Given the description of an element on the screen output the (x, y) to click on. 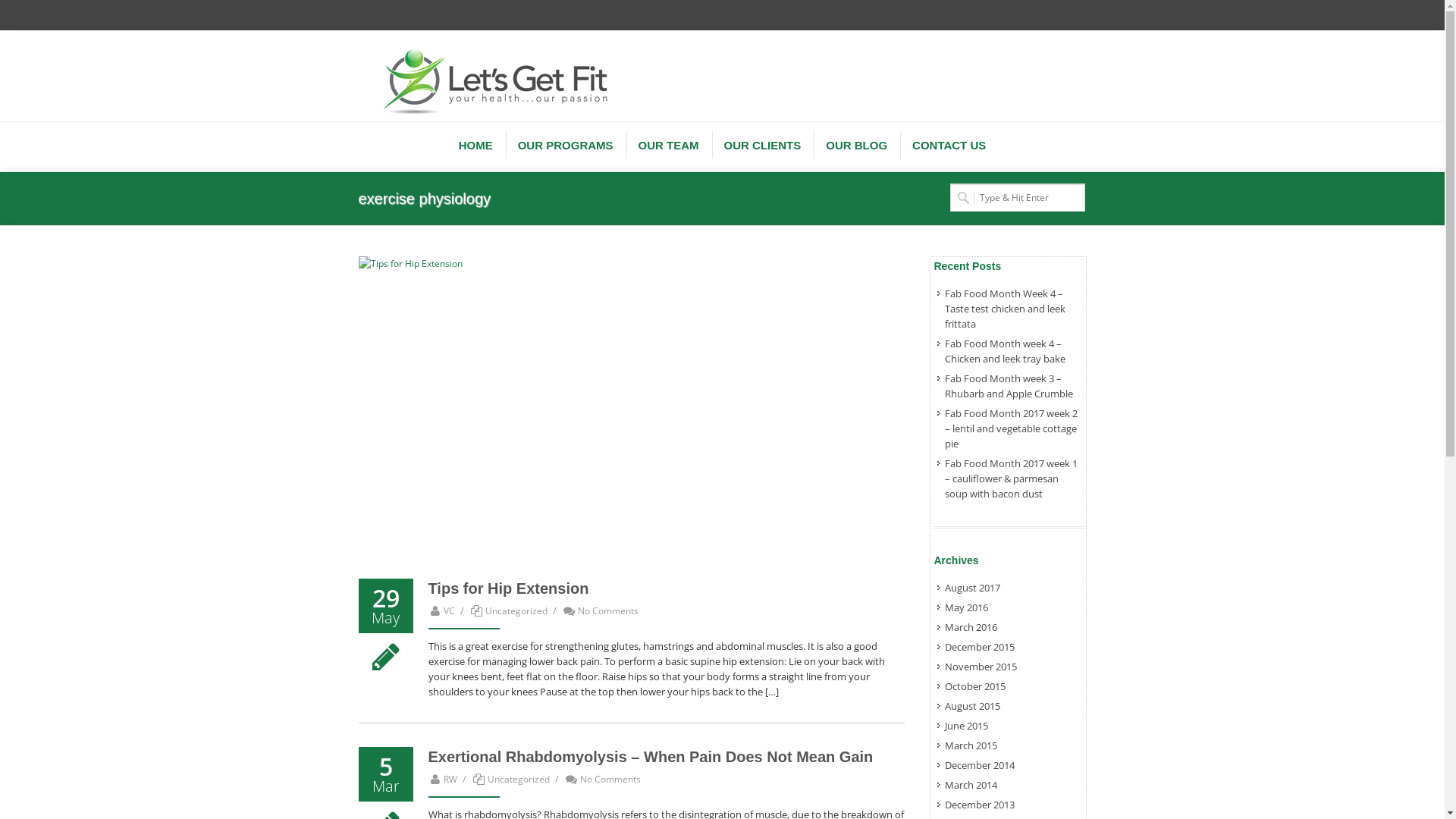
Tips for Hip Extension Element type: text (507, 588)
March 2015 Element type: text (968, 745)
HOME Element type: text (475, 144)
No Comments Element type: text (602, 778)
August 2015 Element type: text (969, 705)
Uncategorized Element type: text (518, 778)
Uncategorized Element type: text (516, 610)
OUR CLIENTS Element type: text (762, 144)
OUR PROGRAMS Element type: text (565, 144)
December 2015 Element type: text (976, 646)
letsgetfit.com.au Element type: hover (494, 73)
December 2013 Element type: text (976, 804)
October 2015 Element type: text (972, 686)
March 2016 Element type: text (968, 627)
VC Element type: text (441, 610)
August 2017 Element type: text (969, 587)
December 2014 Element type: text (976, 765)
No Comments Element type: text (599, 610)
CONTACT US Element type: text (948, 144)
OUR BLOG Element type: text (856, 144)
Tips for Hip Extension Element type: hover (630, 409)
May 2016 Element type: text (963, 607)
November 2015 Element type: text (978, 666)
June 2015 Element type: text (963, 725)
RW Element type: text (442, 778)
OUR TEAM Element type: text (668, 144)
March 2014 Element type: text (968, 784)
